Given the description of an element on the screen output the (x, y) to click on. 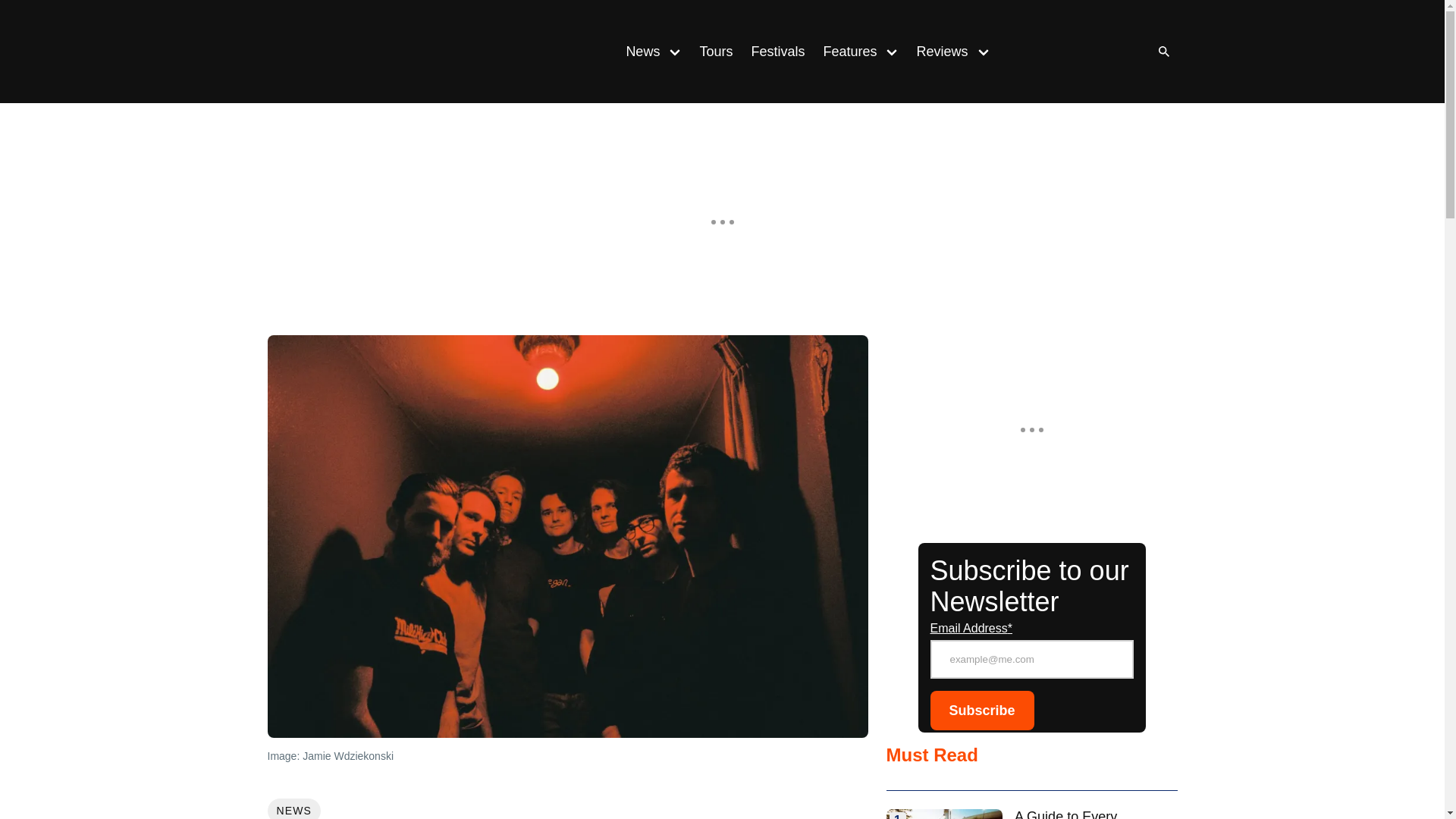
Tours (715, 51)
Instagram (1048, 51)
Open menu (982, 51)
Twitter (1109, 51)
NEWS (293, 808)
Facebook (1079, 51)
Features (844, 51)
Open menu (891, 51)
Open menu (674, 51)
Reviews (937, 51)
Festivals (777, 51)
